Given the description of an element on the screen output the (x, y) to click on. 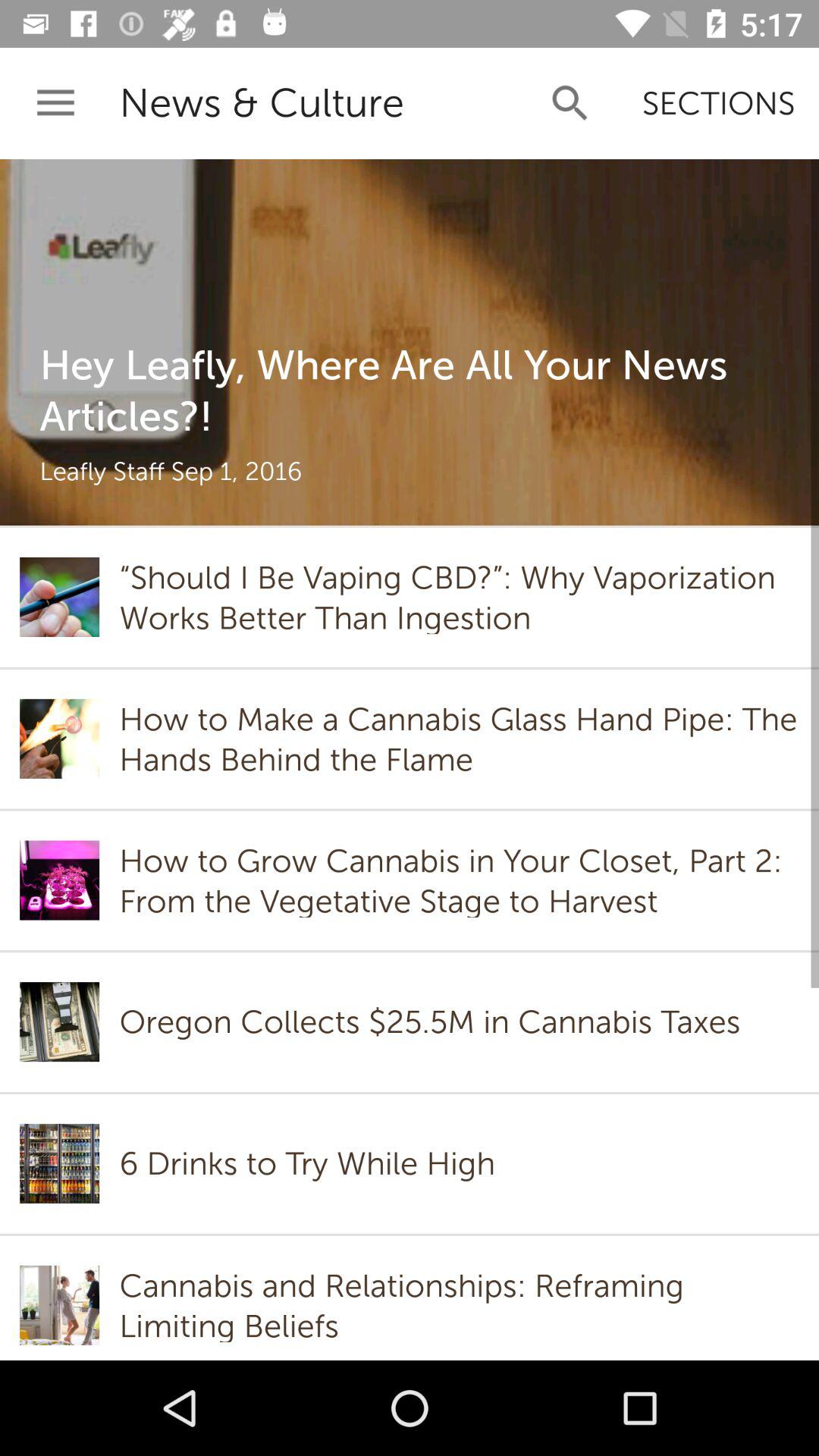
swipe until the 6 drinks to item (307, 1163)
